Given the description of an element on the screen output the (x, y) to click on. 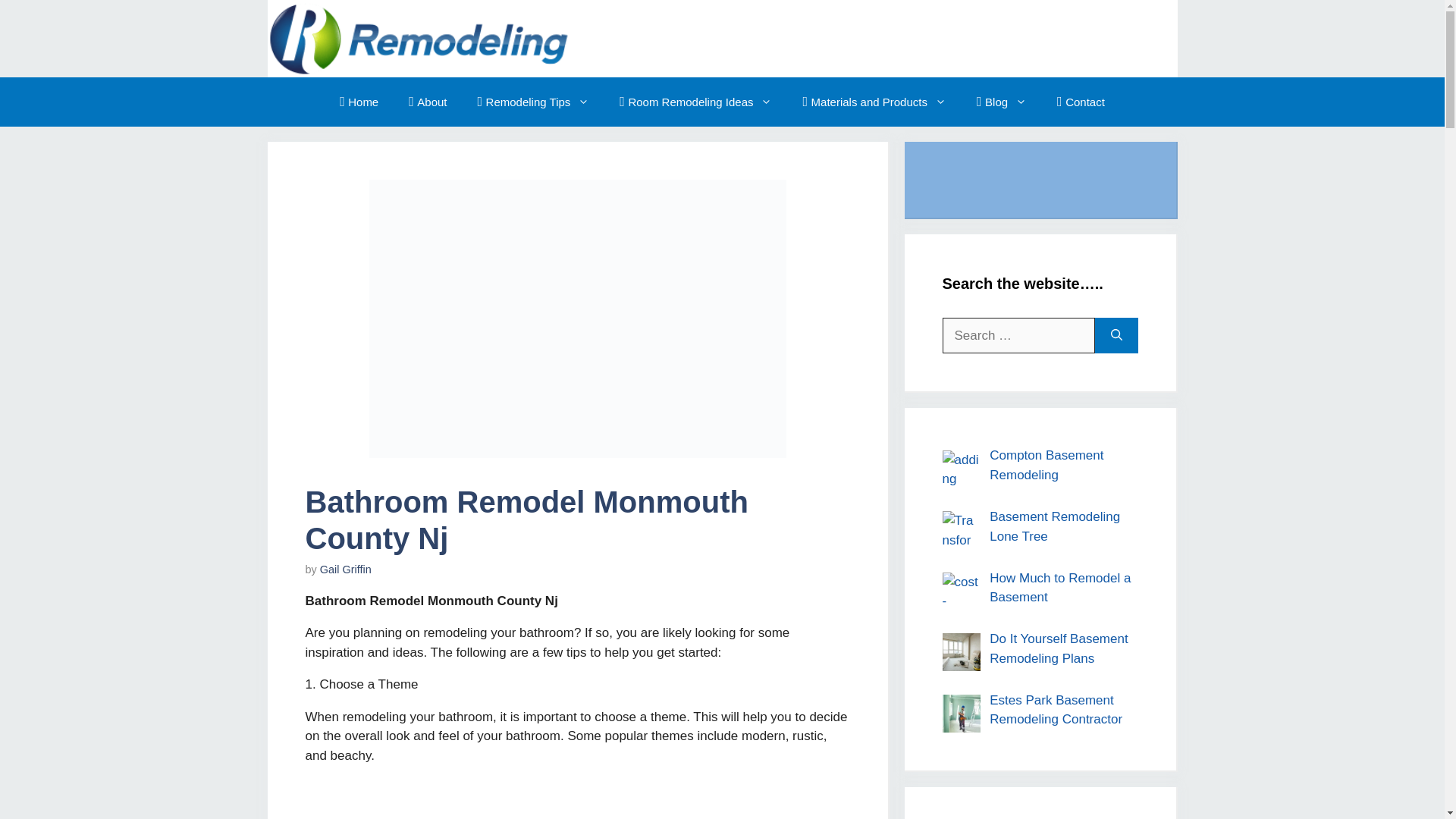
Home (339, 130)
Bathroom Remodel Monmouth County Nj 1 (577, 337)
View all posts by Gail Griffin (336, 591)
Remodeling Tips (527, 130)
About (414, 130)
